Given the description of an element on the screen output the (x, y) to click on. 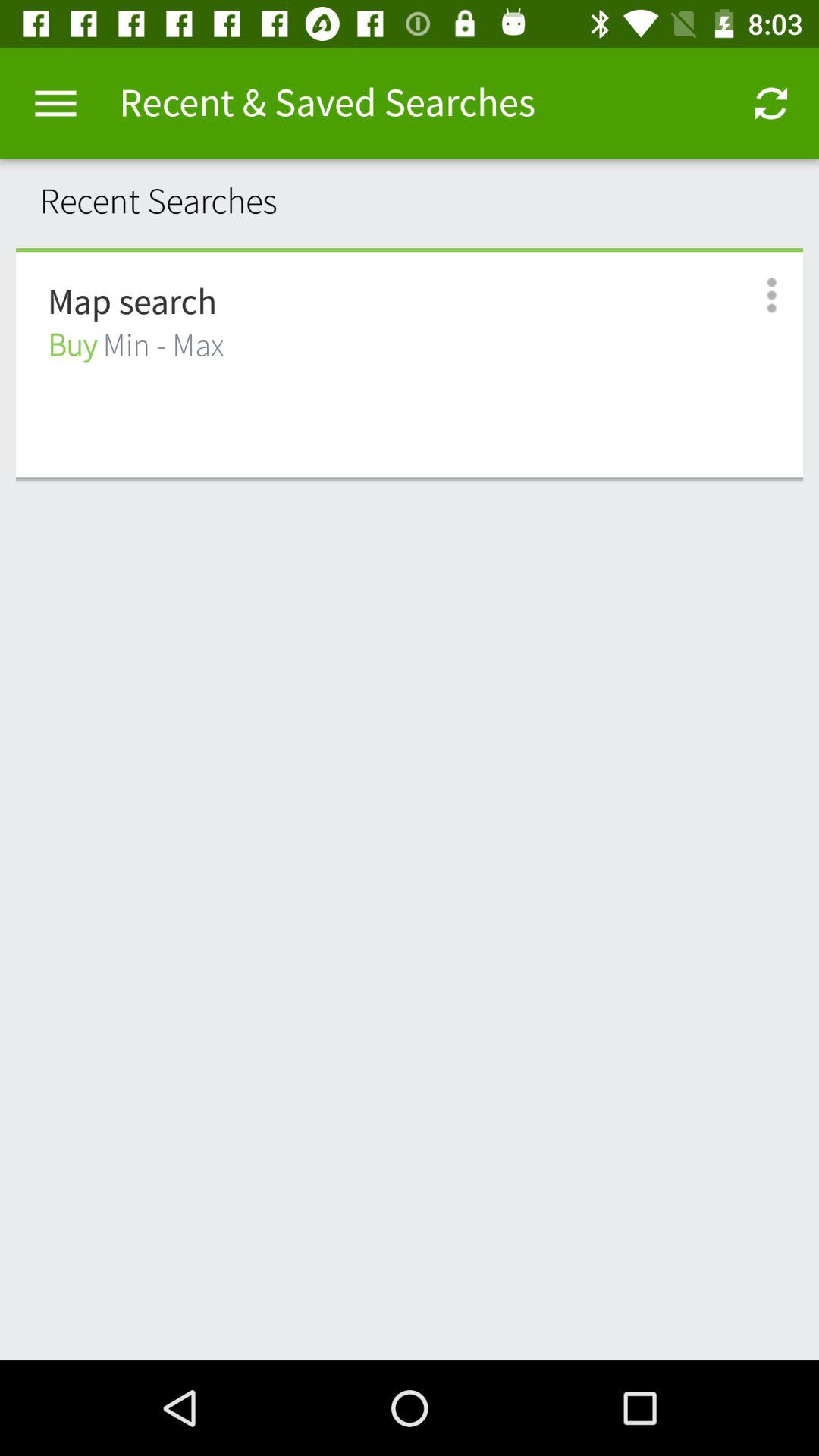
launch the app to the right of recent & saved searches item (771, 103)
